Given the description of an element on the screen output the (x, y) to click on. 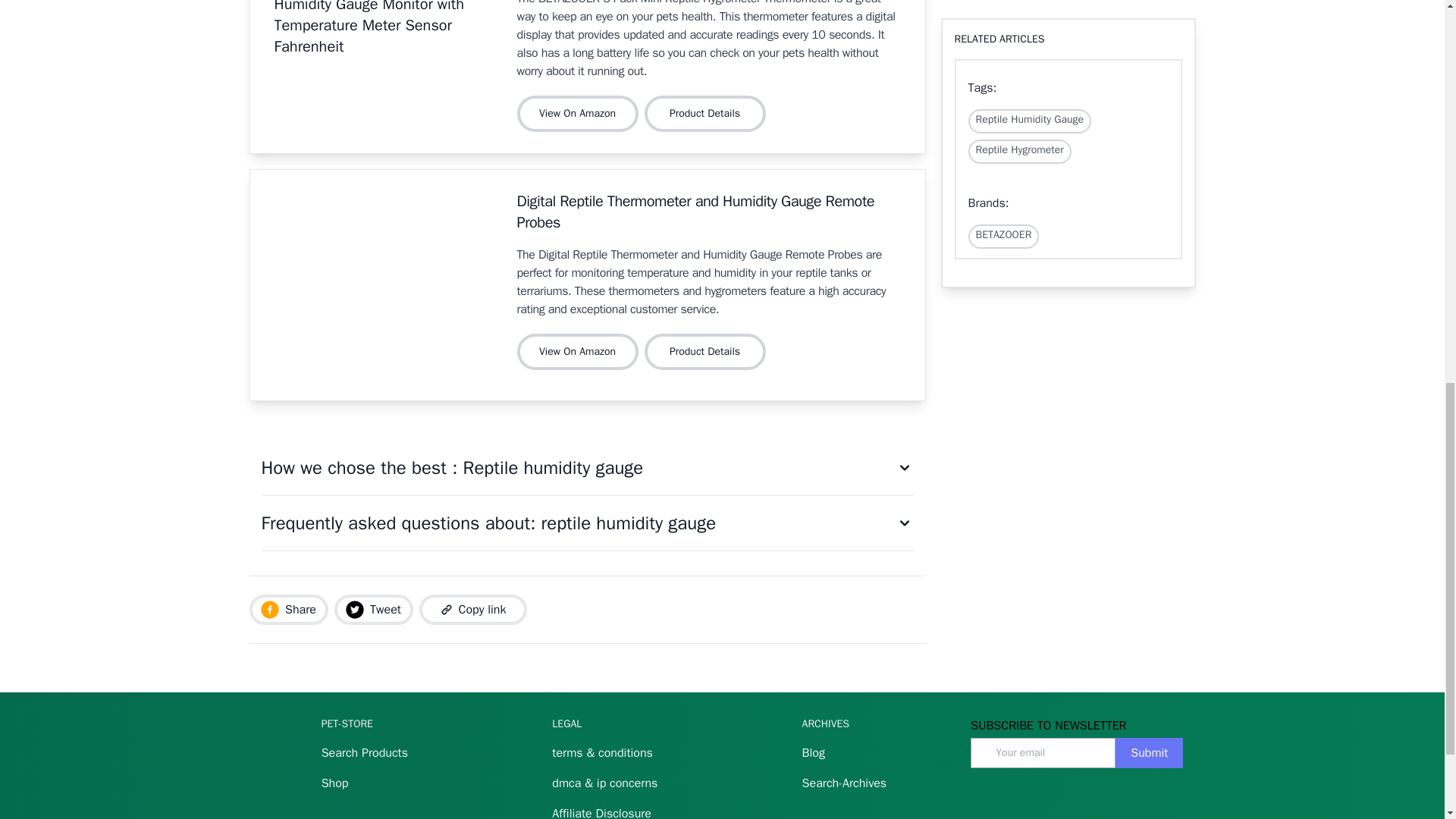
View On Amazon (577, 351)
View On Amazon (580, 113)
View On Amazon (580, 351)
Product Details (705, 113)
View On Amazon (577, 113)
Product Details (708, 351)
How we chose the best : Reptile humidity gauge (586, 468)
Frequently asked questions about: reptile humidity gauge (586, 523)
